Given the description of an element on the screen output the (x, y) to click on. 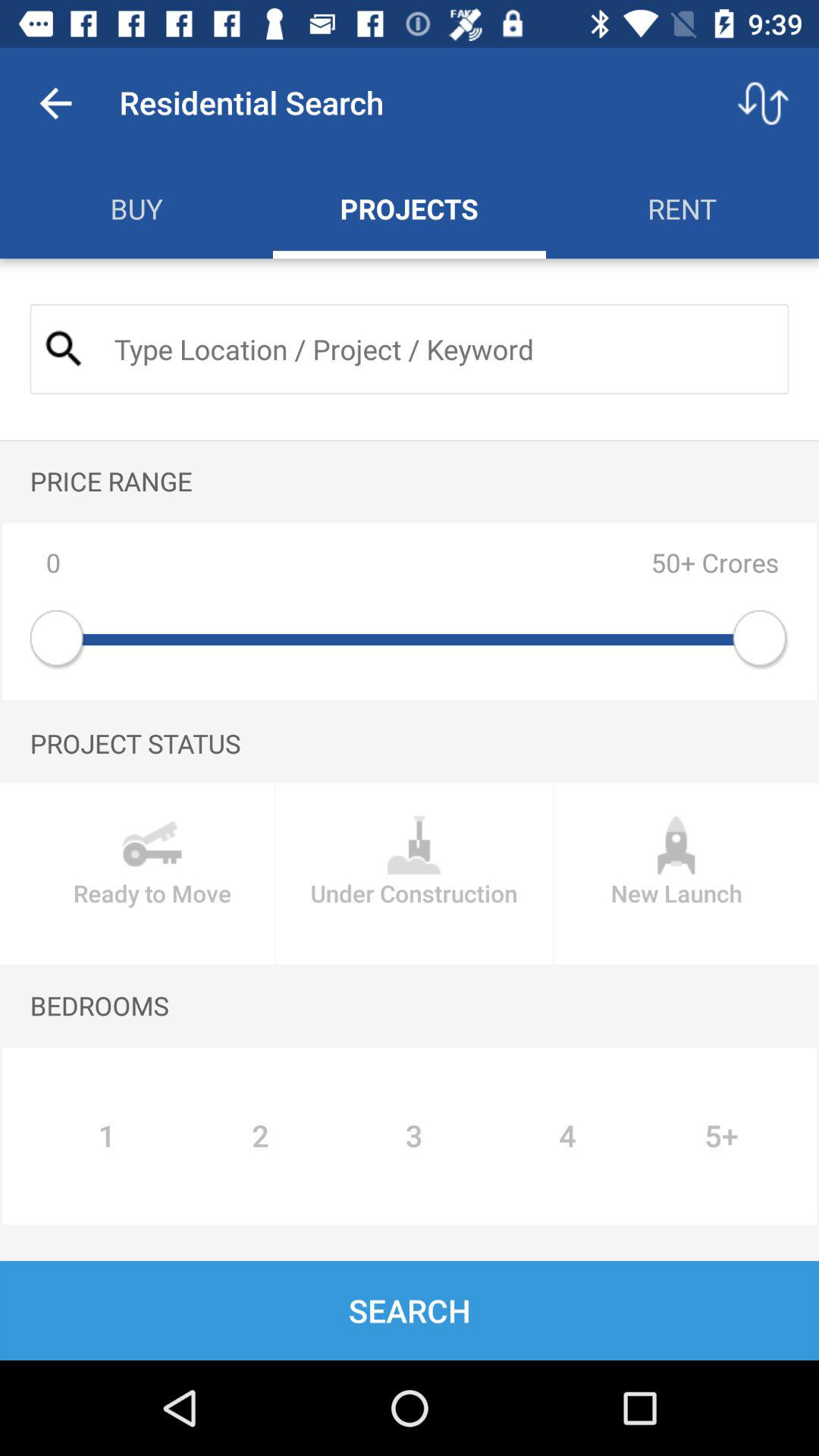
open icon to the right of residential search	 icon (763, 103)
